Given the description of an element on the screen output the (x, y) to click on. 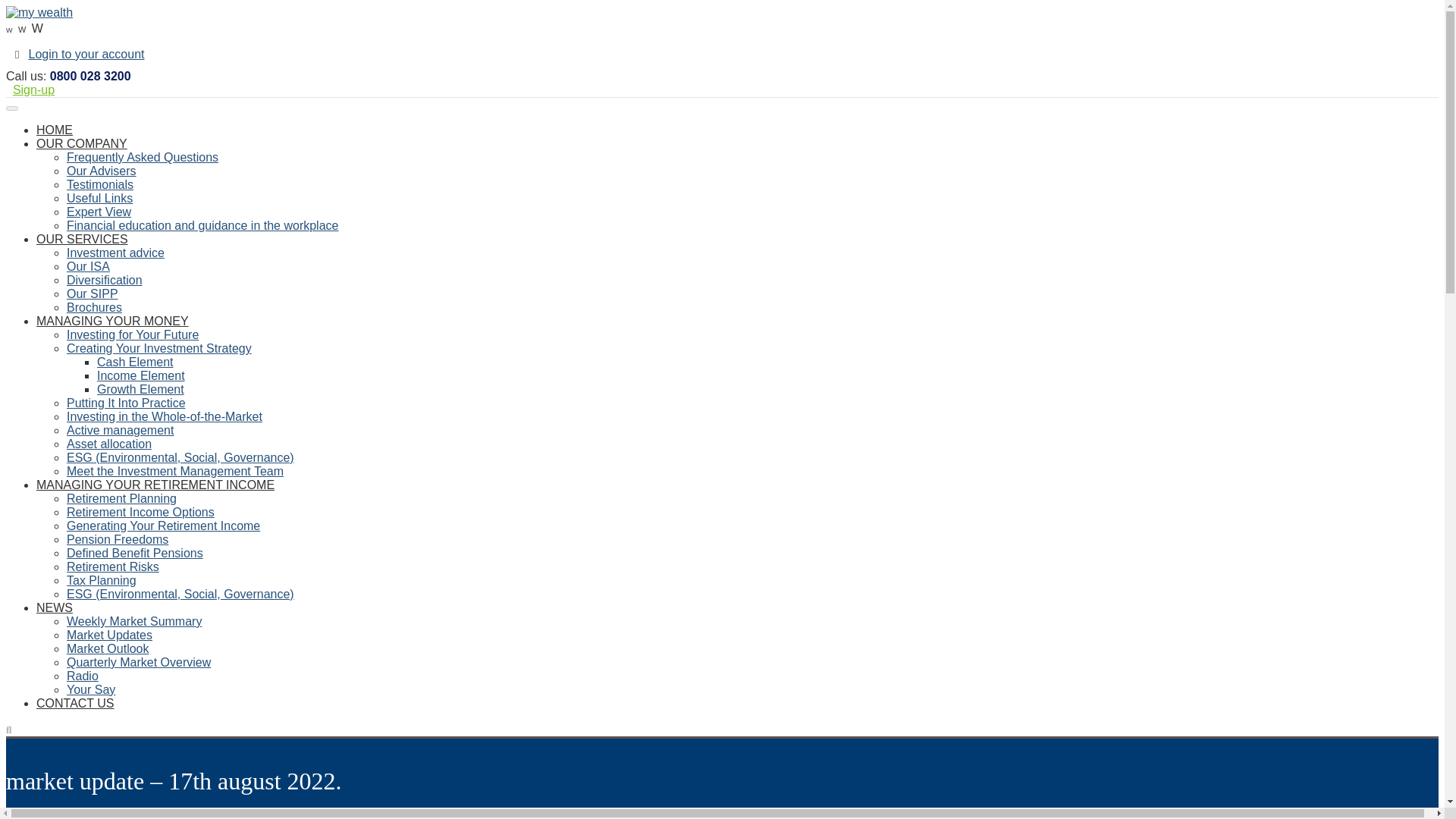
Asset allocation (108, 443)
NEWS (54, 607)
Our ISA (88, 266)
Expert View (98, 211)
Our SIPP (91, 293)
Our ISA (88, 266)
HOME (54, 129)
OUR SERVICES (82, 238)
Cash Element (135, 361)
Useful Links (99, 197)
OUR COMPANY (82, 143)
Retirement Planning (121, 498)
MANAGING YOUR MONEY (112, 320)
Testimonials (99, 184)
Financial education and guidance in the workplace (201, 225)
